Given the description of an element on the screen output the (x, y) to click on. 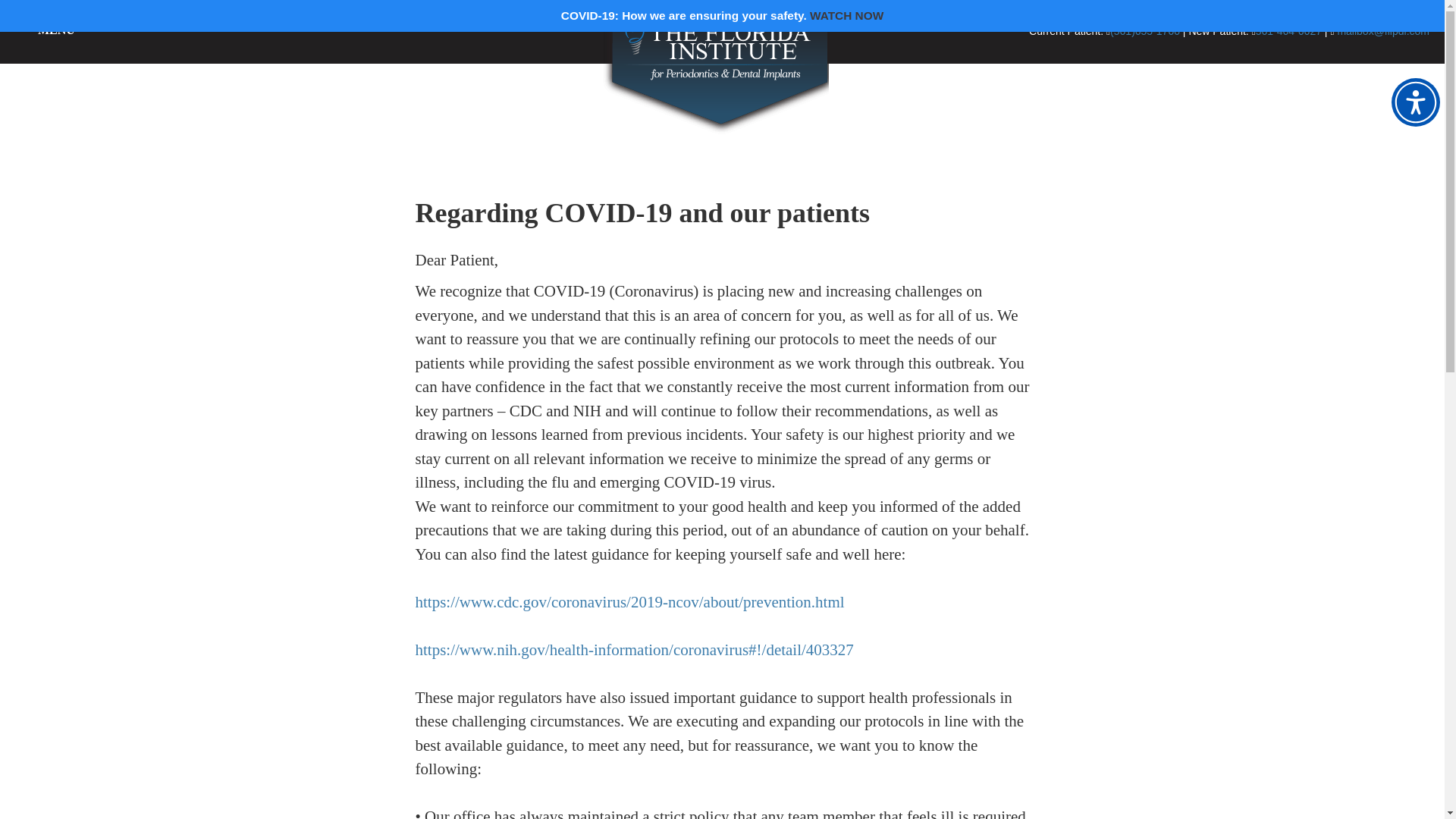
WATCH NOW (846, 15)
Accessibility Menu (1415, 101)
561-464-6627 (1288, 30)
MENU (56, 30)
